Given the description of an element on the screen output the (x, y) to click on. 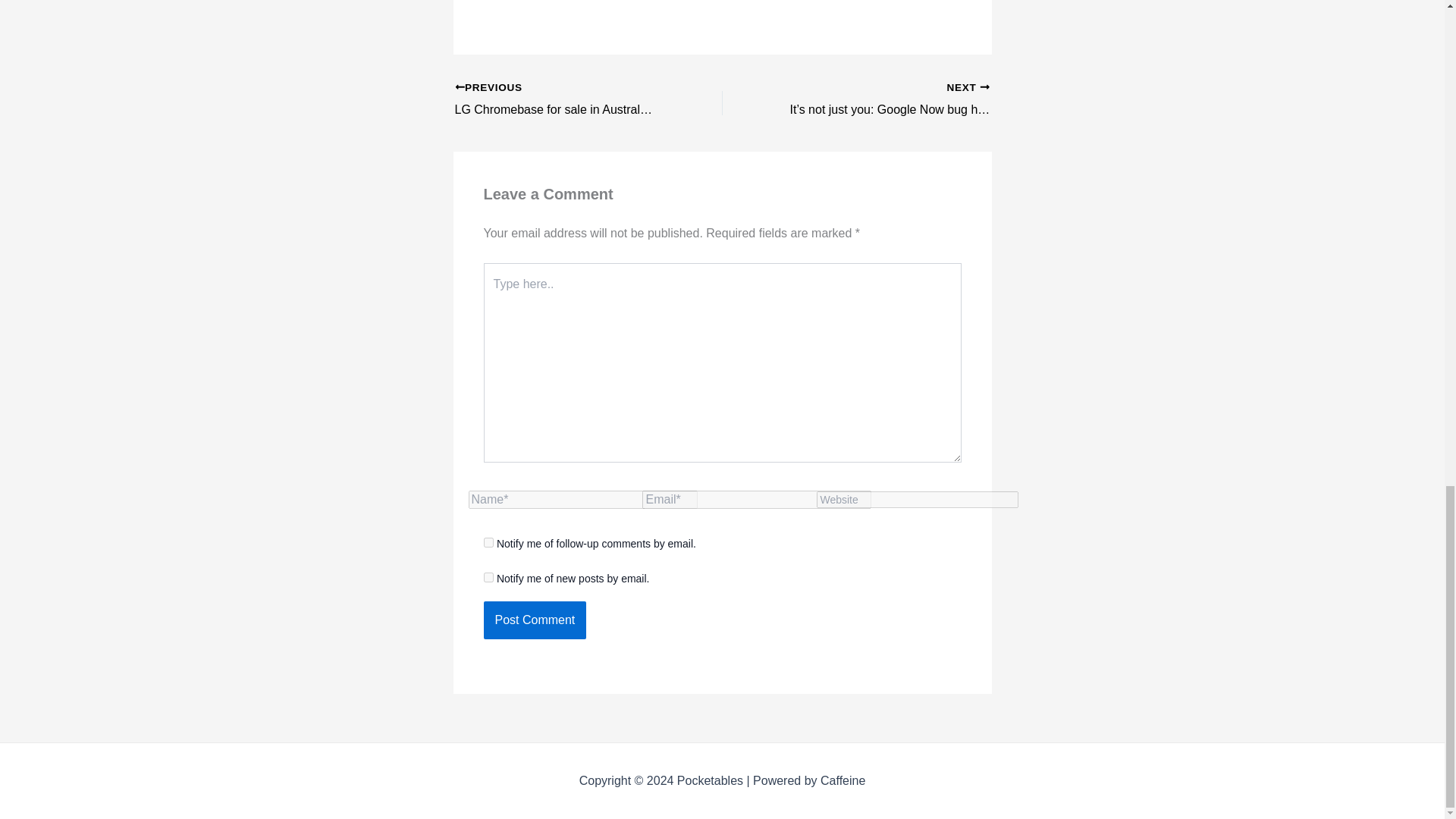
subscribe (488, 542)
Post Comment (534, 620)
subscribe (488, 577)
